Given the description of an element on the screen output the (x, y) to click on. 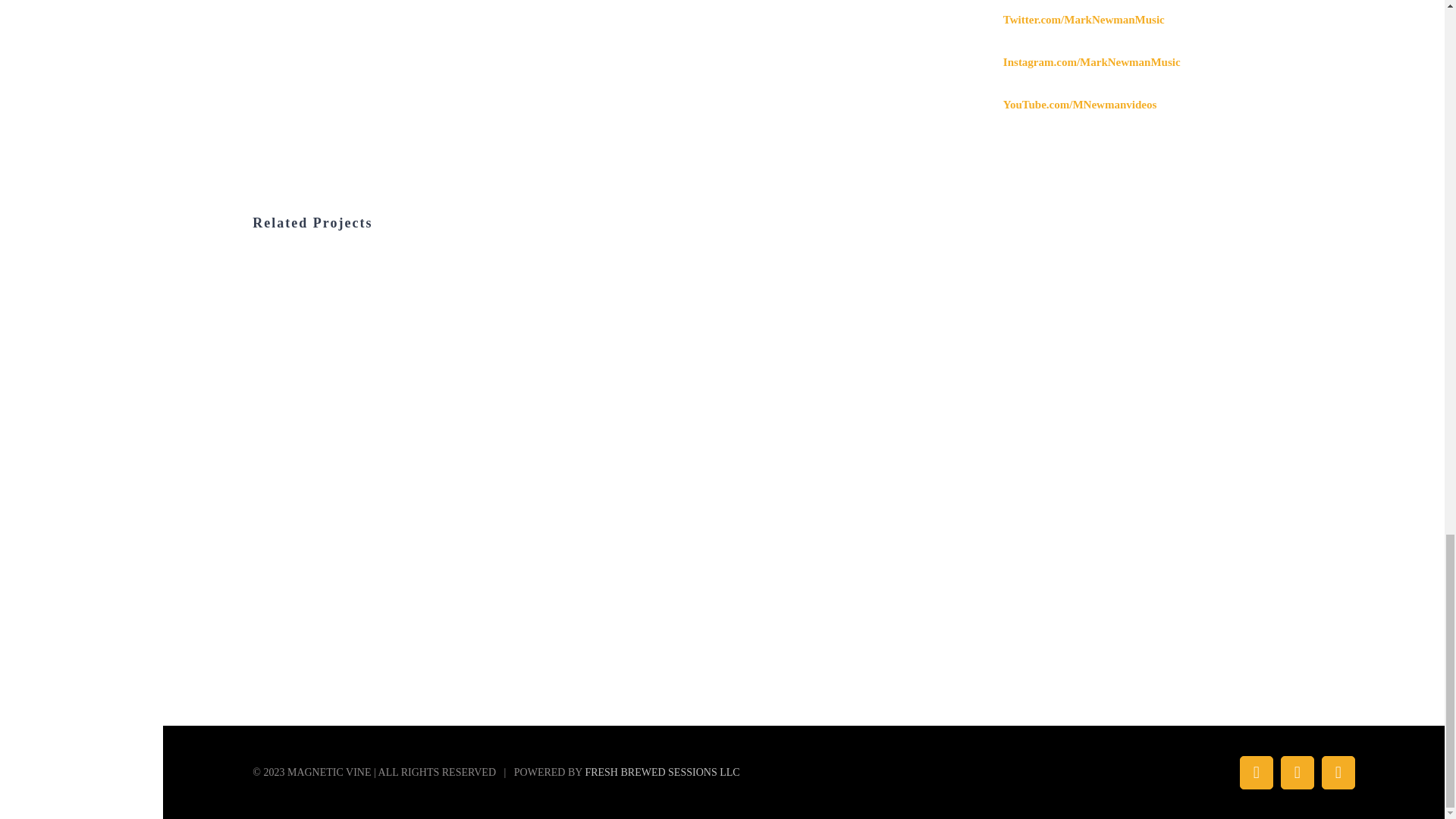
Twitter (1297, 772)
Instagram (1338, 772)
Facebook (1256, 772)
